Given the description of an element on the screen output the (x, y) to click on. 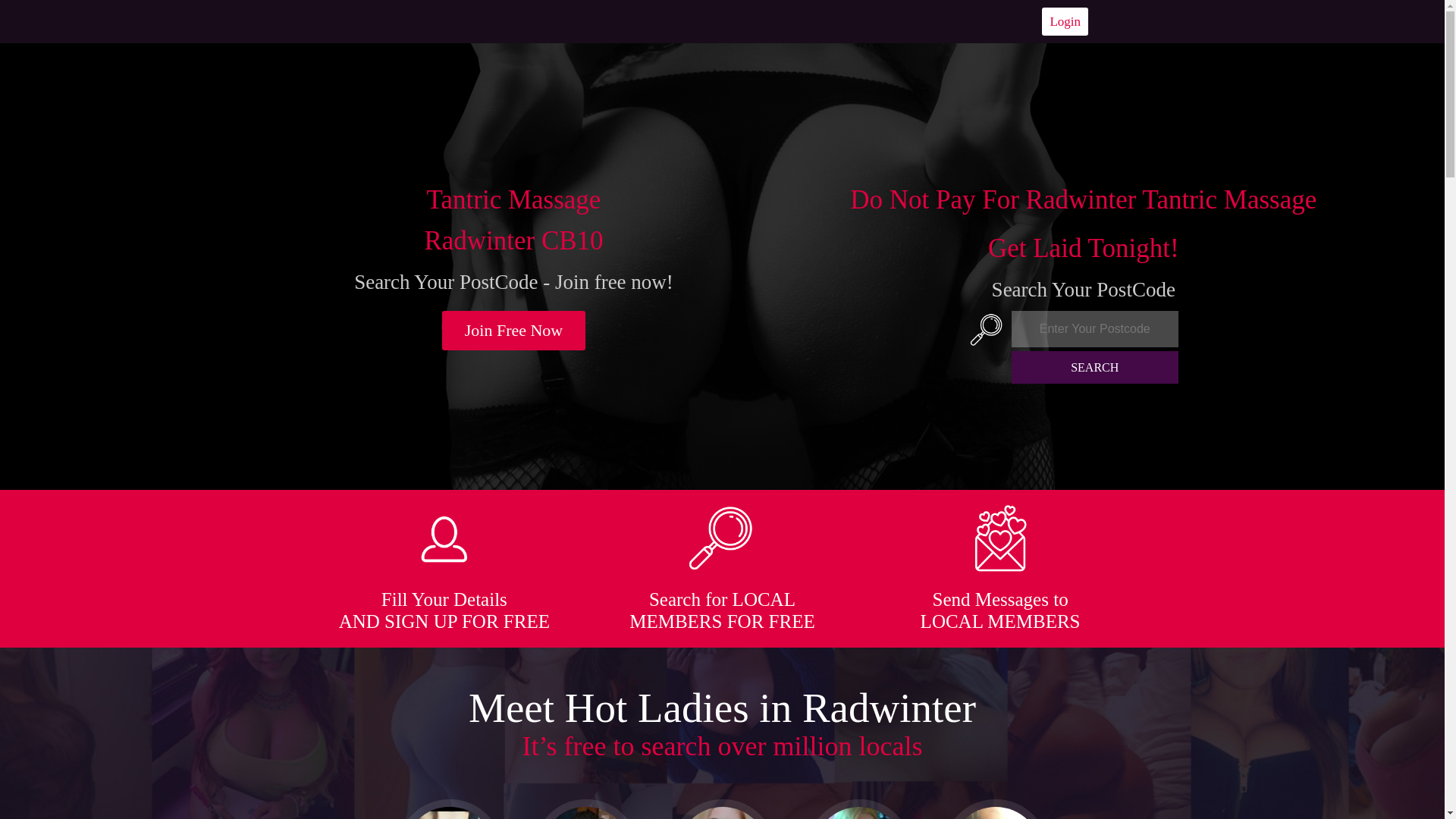
Login (1064, 21)
Join Free Now (514, 330)
Login (1064, 21)
Join (514, 330)
SEARCH (1094, 367)
